Given the description of an element on the screen output the (x, y) to click on. 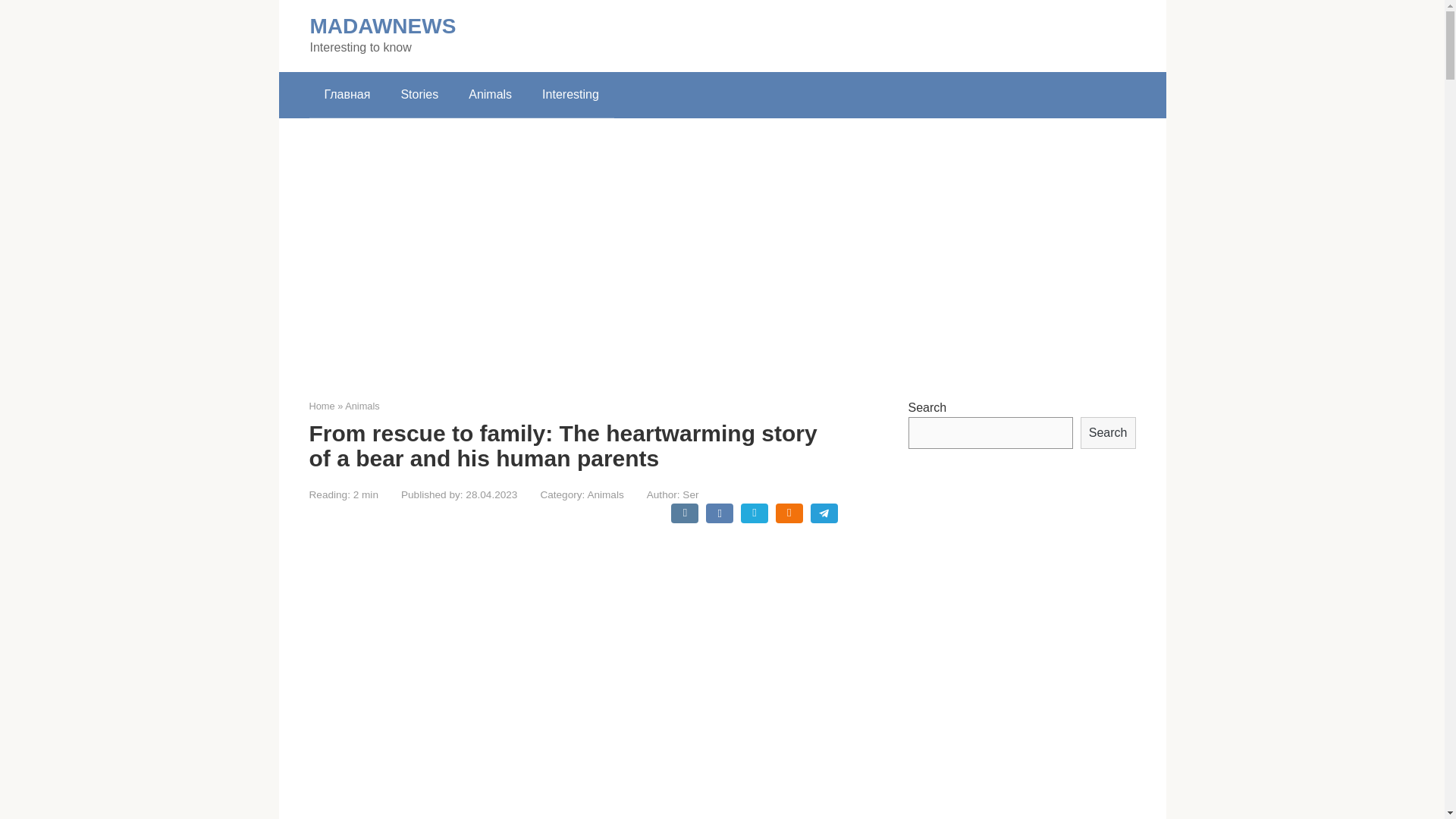
Stories (418, 94)
Home (321, 405)
MADAWNEWS (381, 25)
Animals (489, 94)
Animals (604, 494)
Interesting (570, 94)
Animals (362, 405)
